Given the description of an element on the screen output the (x, y) to click on. 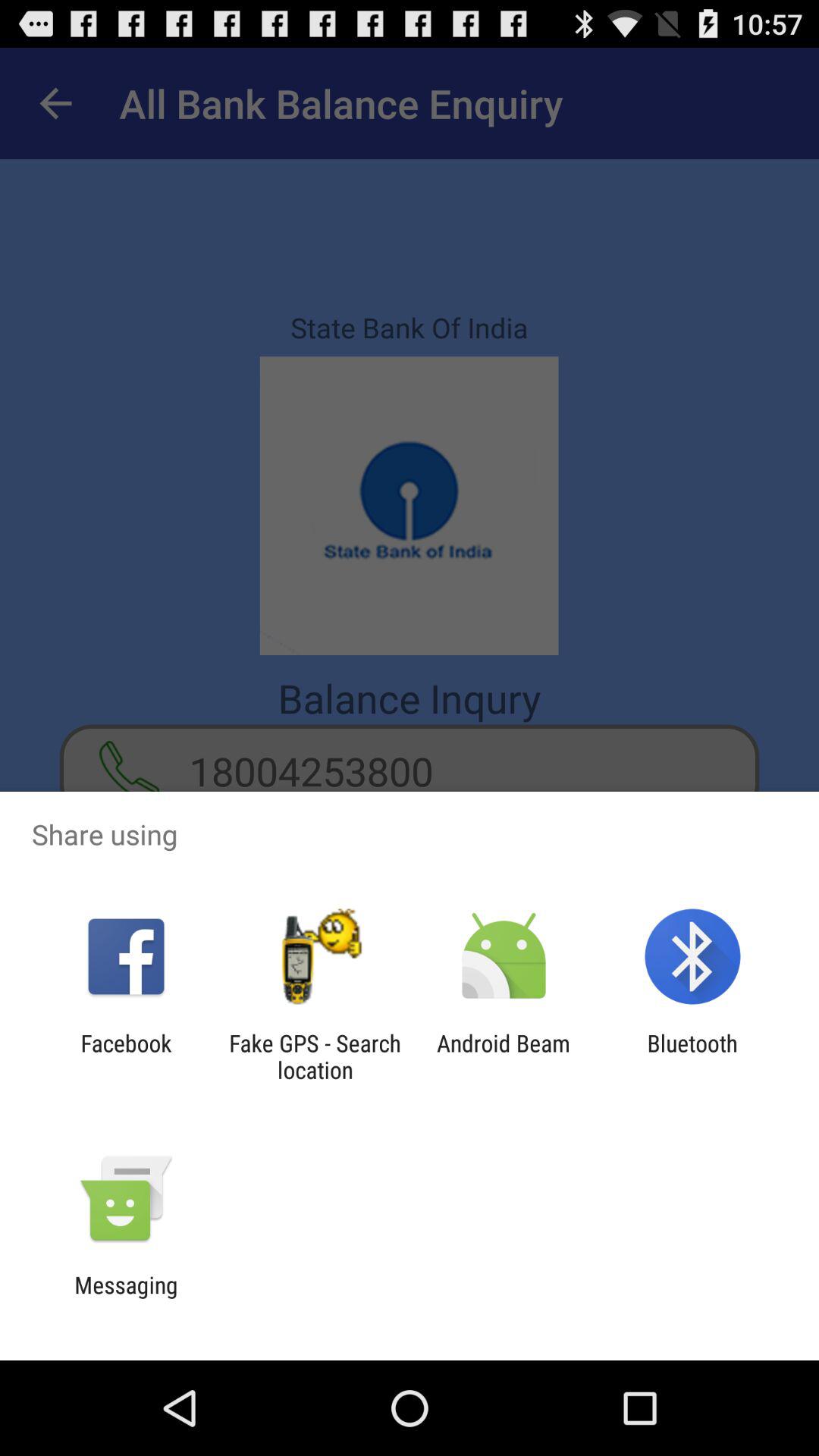
click bluetooth item (692, 1056)
